Given the description of an element on the screen output the (x, y) to click on. 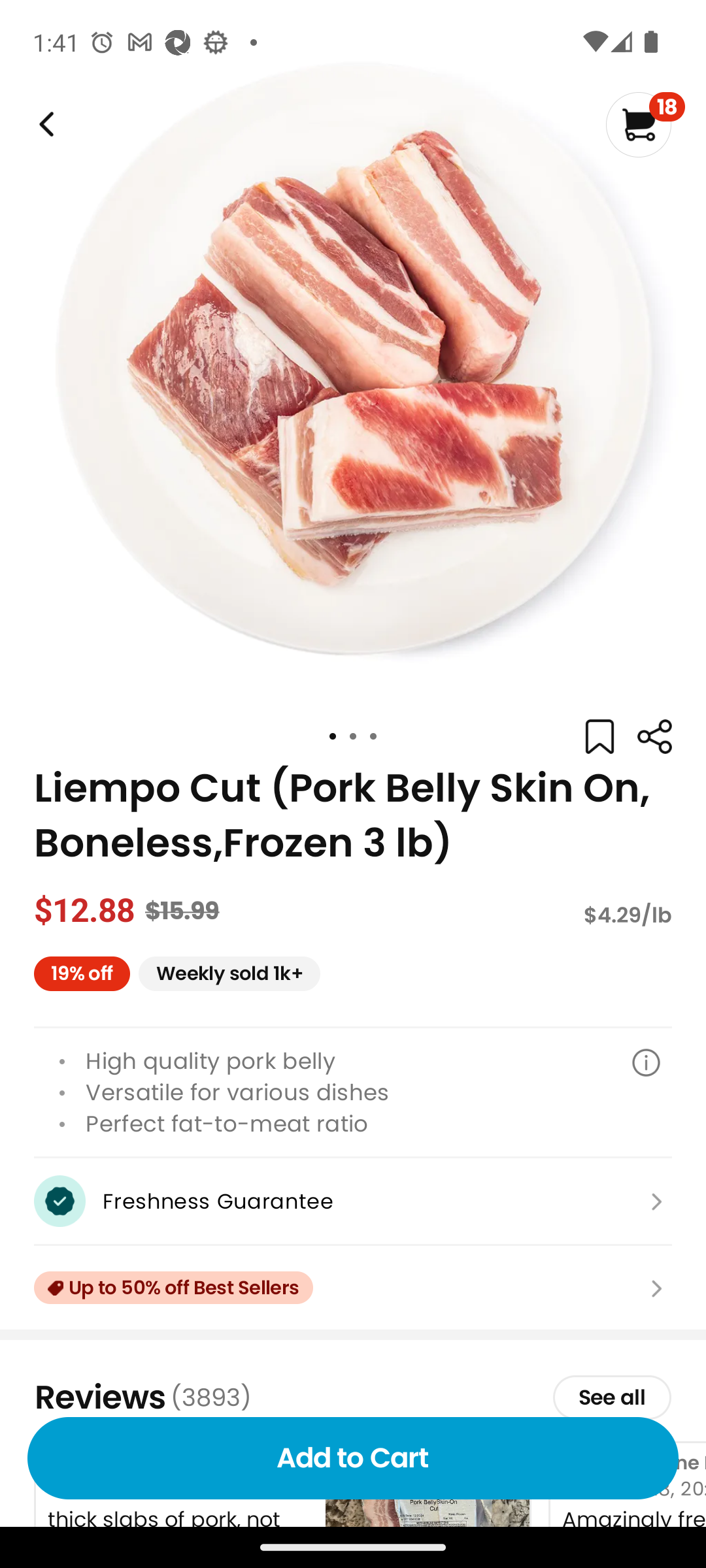
18 (644, 124)
Weee! (45, 124)
Weee! (653, 736)
Freshness Guarantee (352, 1200)
Up to 50% off Best Sellers (352, 1287)
Reviews (3893) See all (353, 1397)
Add to Cart (352, 1458)
